Given the description of an element on the screen output the (x, y) to click on. 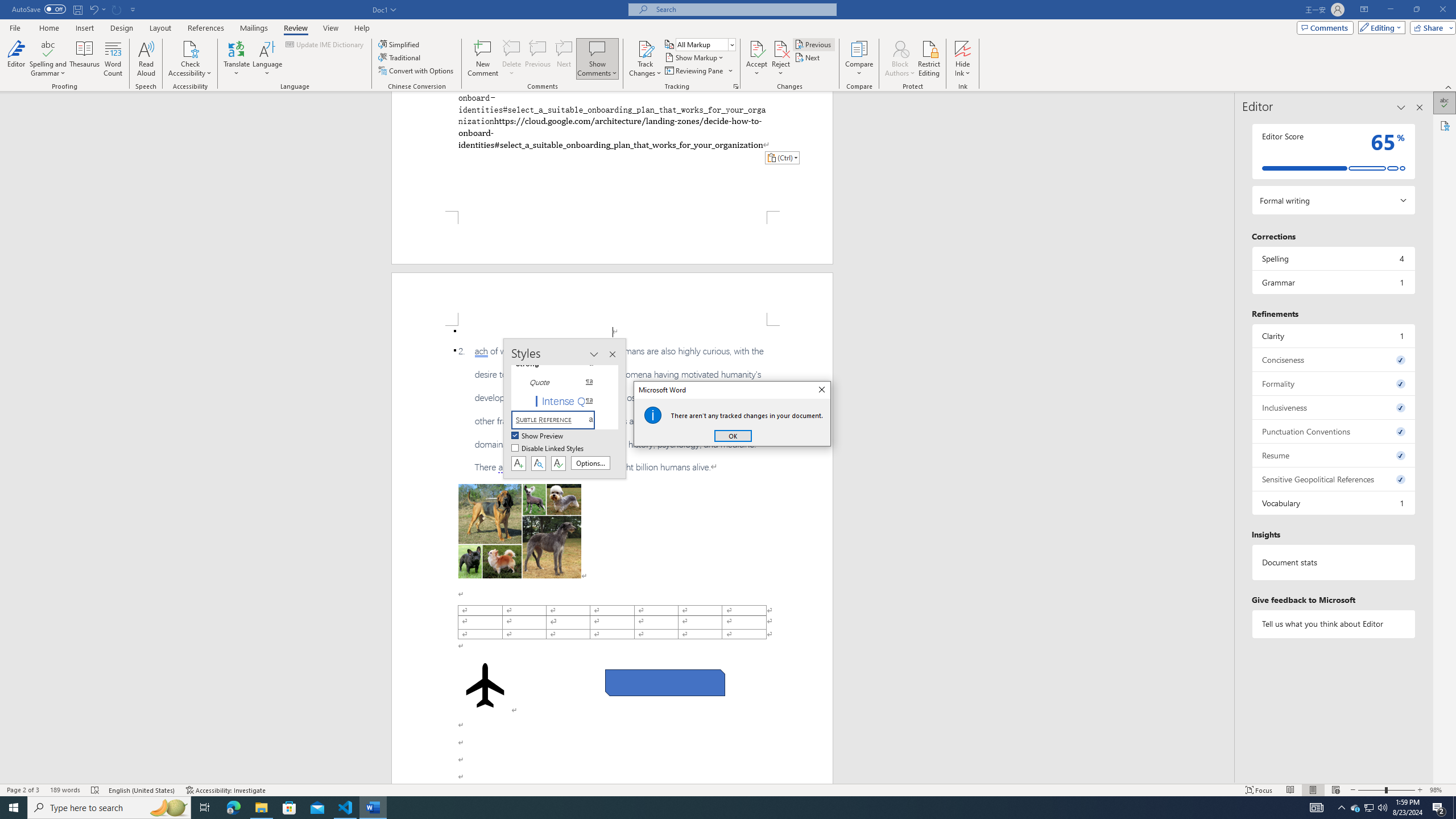
Zoom (1386, 790)
Change Tracking Options... (735, 85)
Editing (1379, 27)
Show desktop (1454, 807)
Resume, 0 issues. Press space or enter to review items. (1333, 454)
Accessibility Checker Accessibility: Investigate (226, 790)
Page Number Page 2 of 3 (22, 790)
Grammar, 1 issue. Press space or enter to review items. (1333, 282)
Show Markup (695, 56)
